Given the description of an element on the screen output the (x, y) to click on. 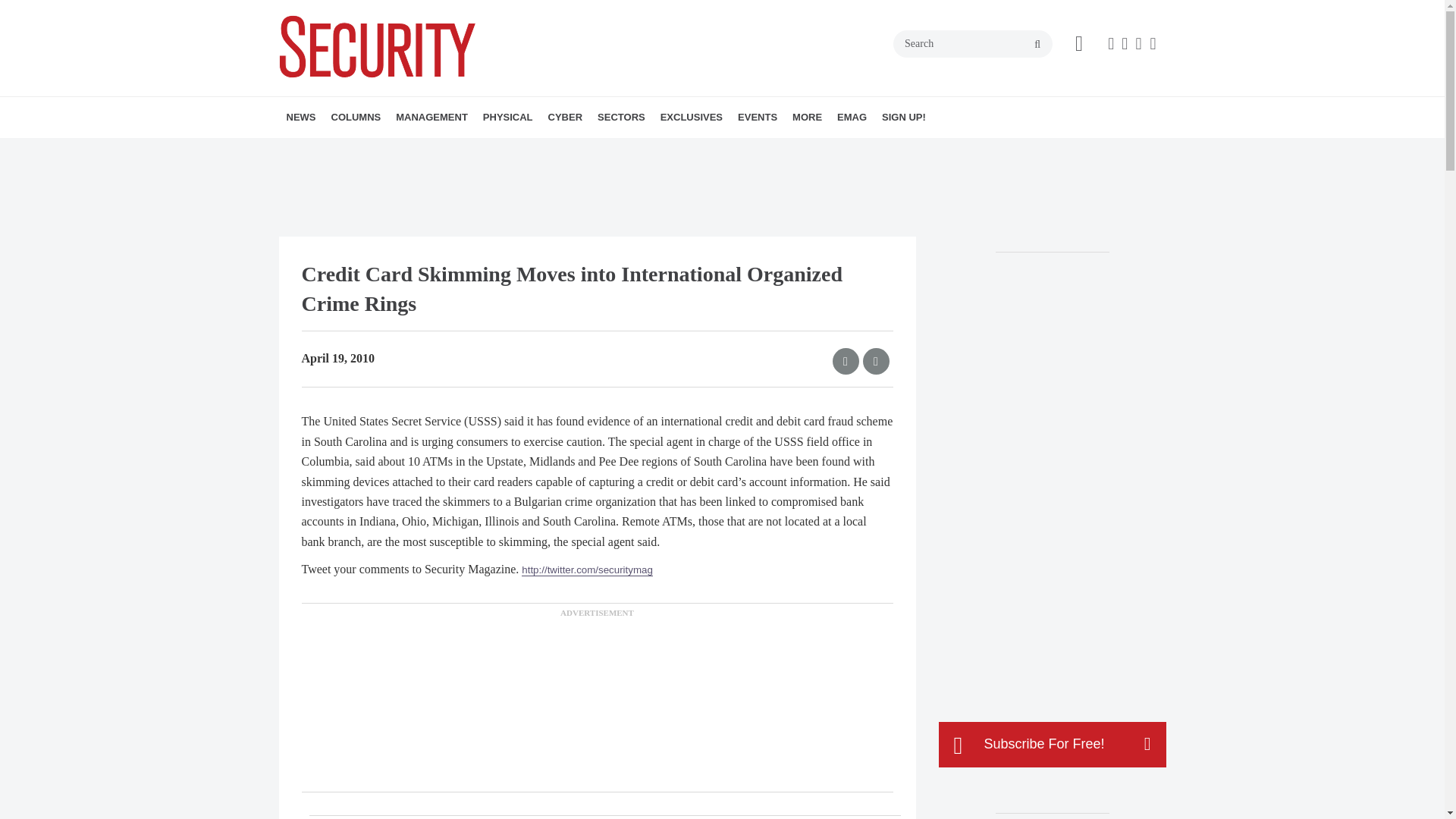
SECURITY NEWSWIRE (373, 150)
VIDEO SURVEILLANCE (576, 150)
NEWS (301, 117)
CAREER INTELLIGENCE (436, 150)
SECTORS (620, 117)
search (1037, 44)
LEADERSHIP MANAGEMENT (483, 150)
Search (972, 43)
SECURITY TALK (430, 150)
IDENTITY MANAGEMENT (583, 150)
